Given the description of an element on the screen output the (x, y) to click on. 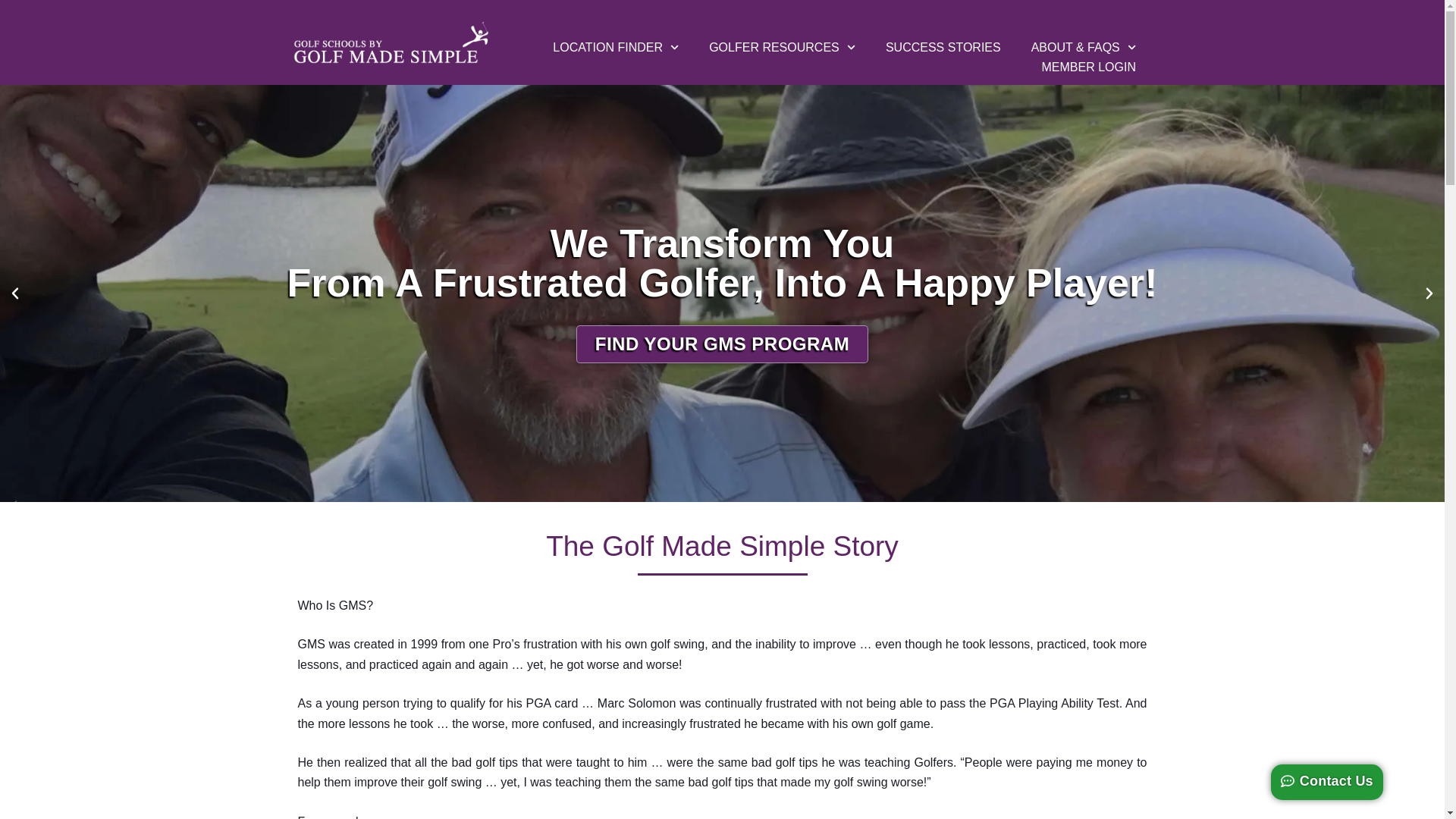
FIND YOUR GMS PROGRAM (721, 344)
GOLFER RESOURCES (782, 47)
SUCCESS STORIES (943, 47)
LOCATION FINDER (615, 47)
MEMBER LOGIN (1088, 66)
